Given the description of an element on the screen output the (x, y) to click on. 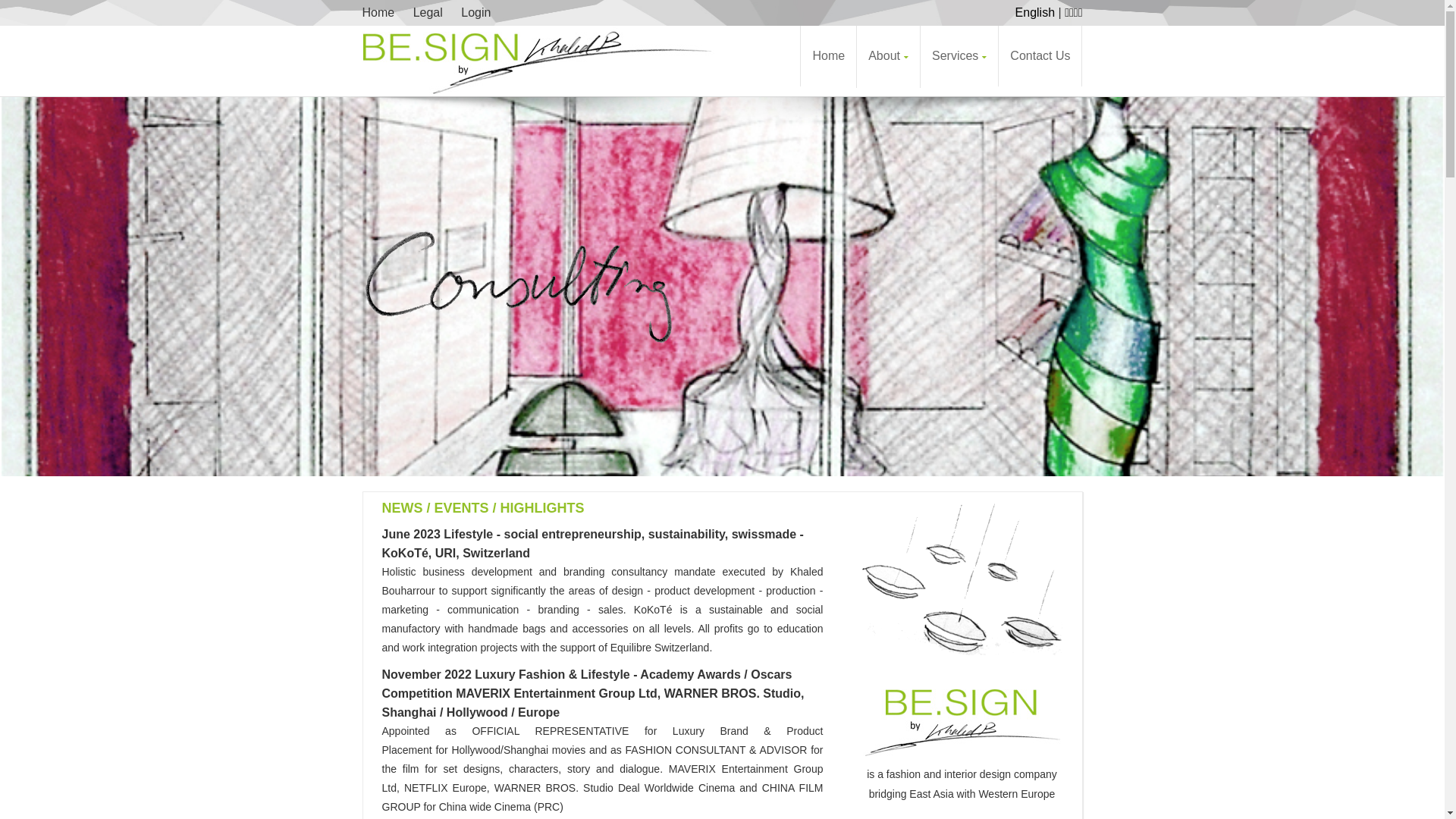
About Element type: text (887, 56)
Home Element type: text (382, 12)
English Element type: text (1034, 12)
Contact Us Element type: text (1039, 55)
Login Element type: text (475, 12)
Services Element type: text (958, 56)
Legal Element type: text (427, 12)
Home Element type: text (828, 55)
Skip to main content Element type: text (54, 0)
